Given the description of an element on the screen output the (x, y) to click on. 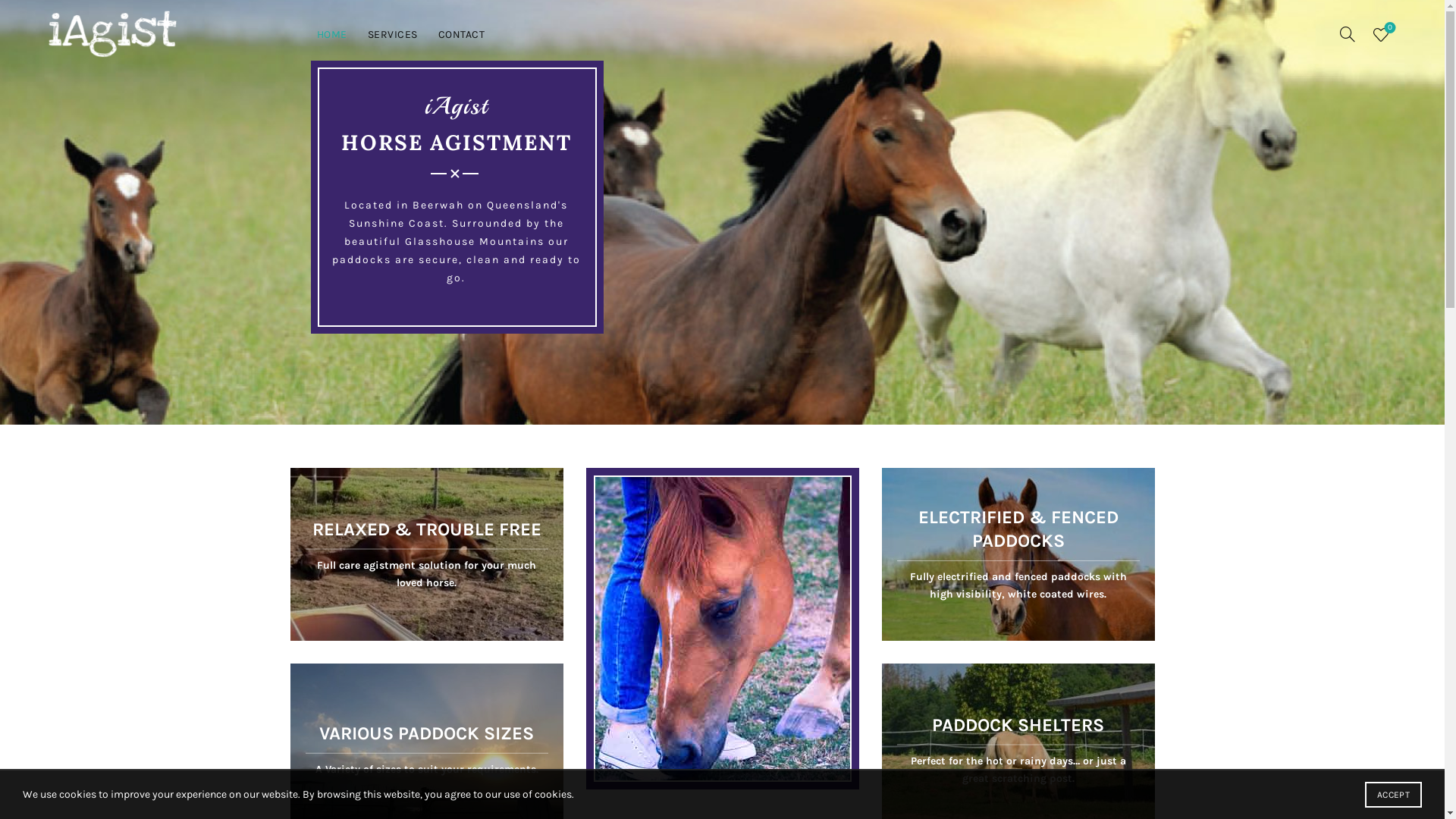
ACCEPT Element type: text (1393, 794)
Screen-Shot-2018-07-18-at-12.47.13 Element type: hover (425, 554)
SERVICES Element type: text (392, 34)
animal-animal-photography-blur-1027752 Element type: hover (1017, 554)
CONTACT Element type: text (461, 34)
HOME Element type: text (332, 34)
Search Element type: text (30, 45)
Wishlist
0 Element type: text (1380, 33)
